Given the description of an element on the screen output the (x, y) to click on. 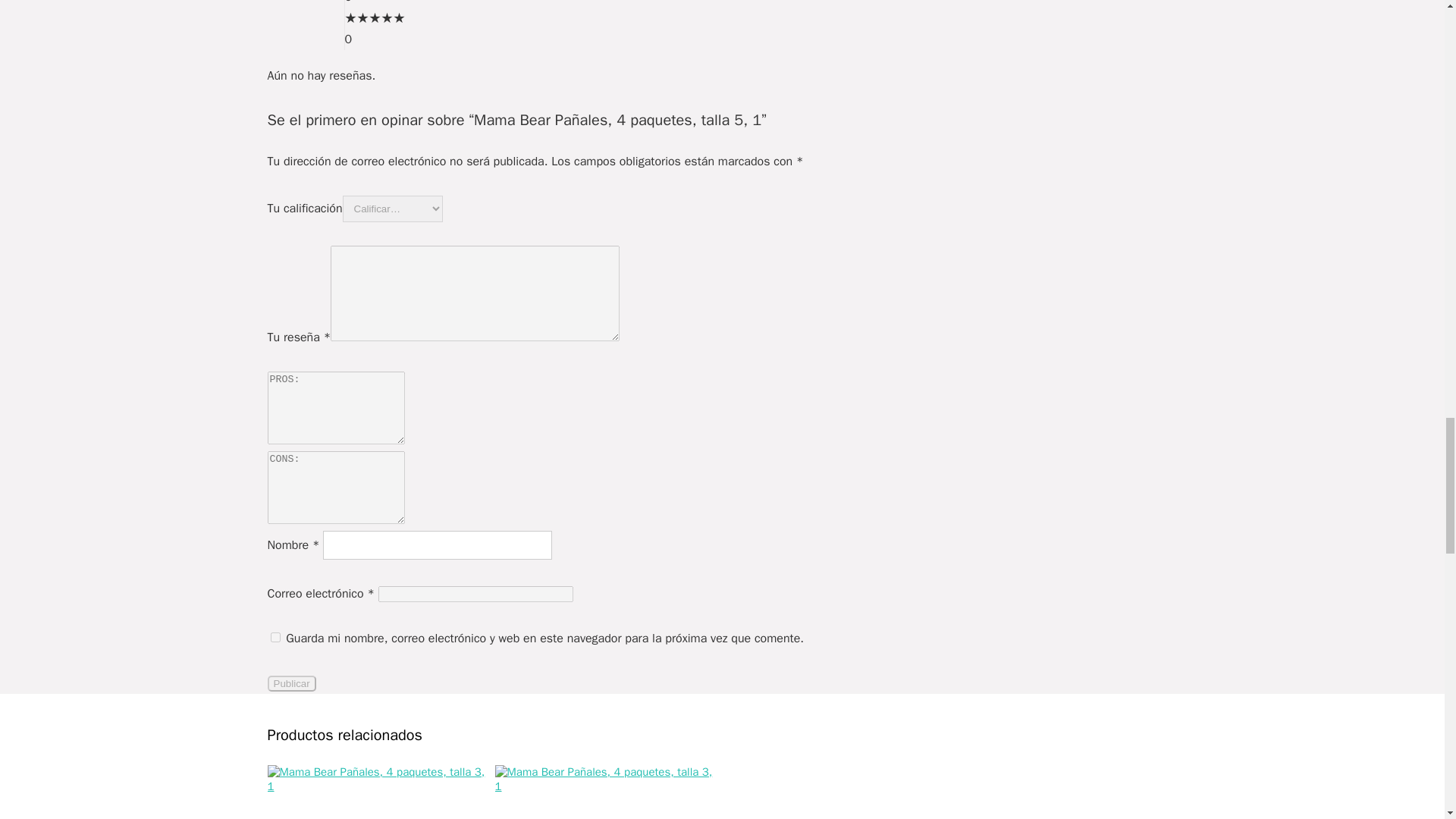
Publicar (290, 683)
Publicar (290, 683)
yes (274, 637)
Valorado con 1 de 5 (373, 17)
